Given the description of an element on the screen output the (x, y) to click on. 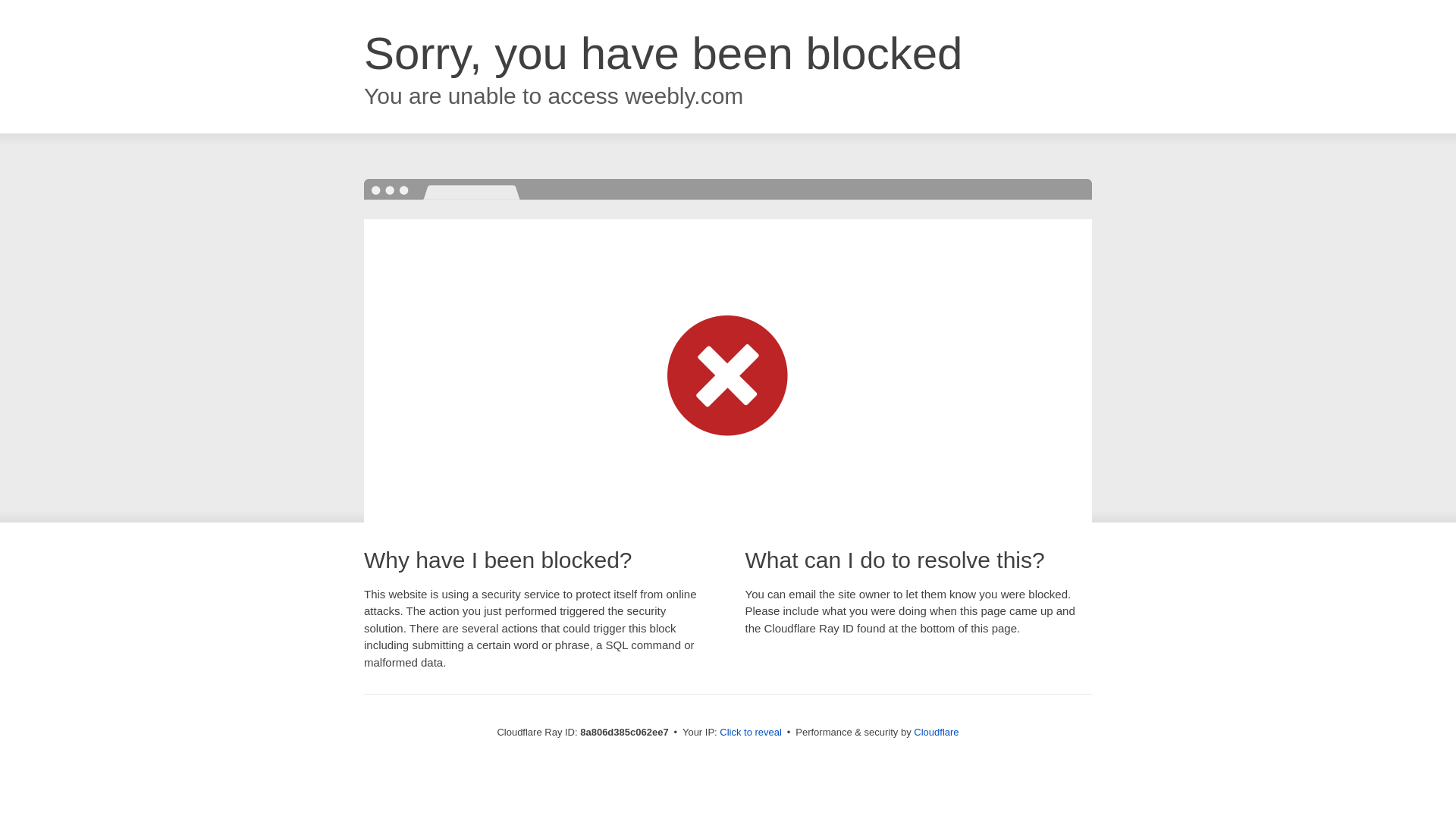
Click to reveal (750, 732)
Cloudflare (936, 731)
